Given the description of an element on the screen output the (x, y) to click on. 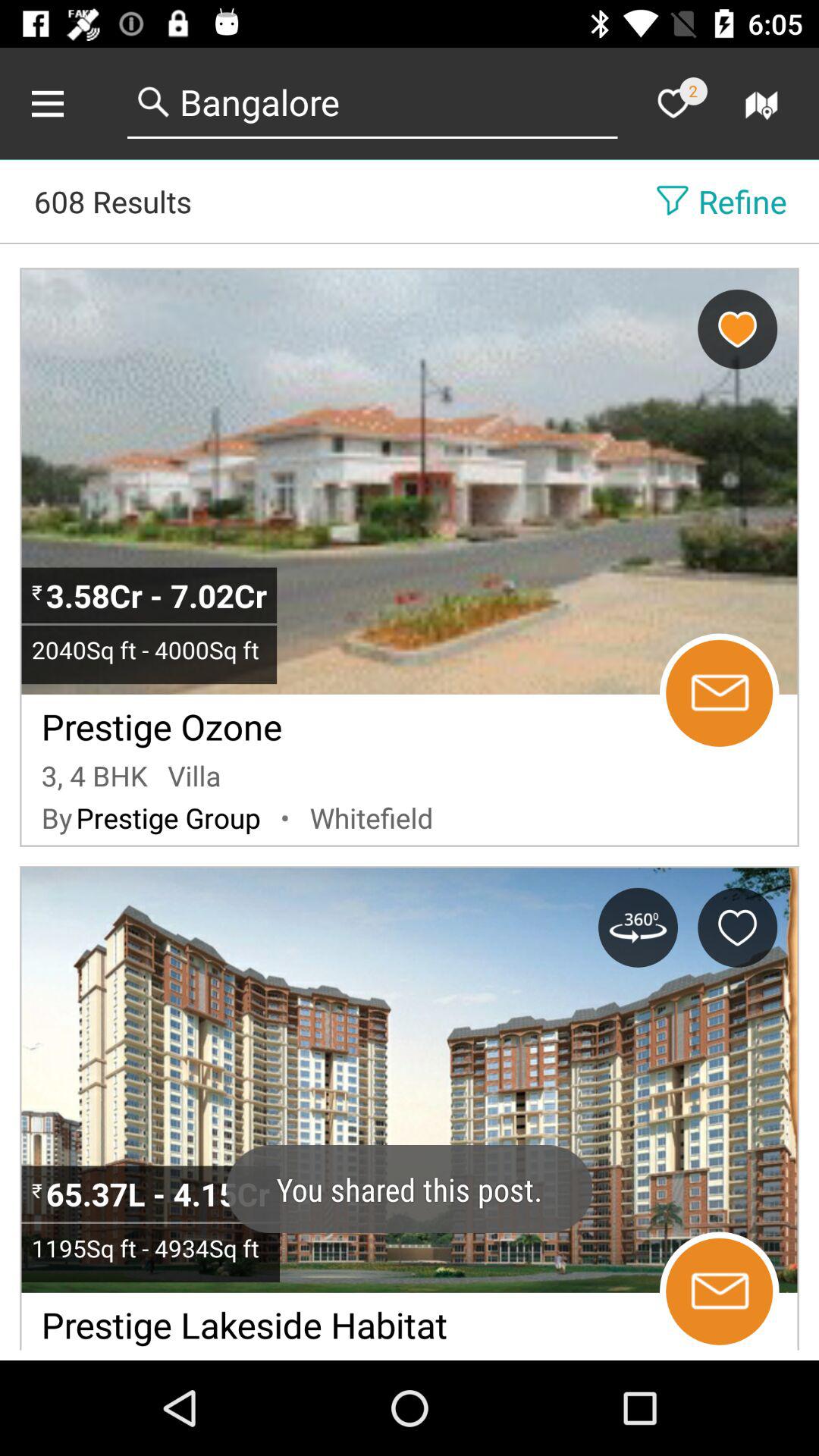
open the item to the left of the whitefield item (285, 817)
